Given the description of an element on the screen output the (x, y) to click on. 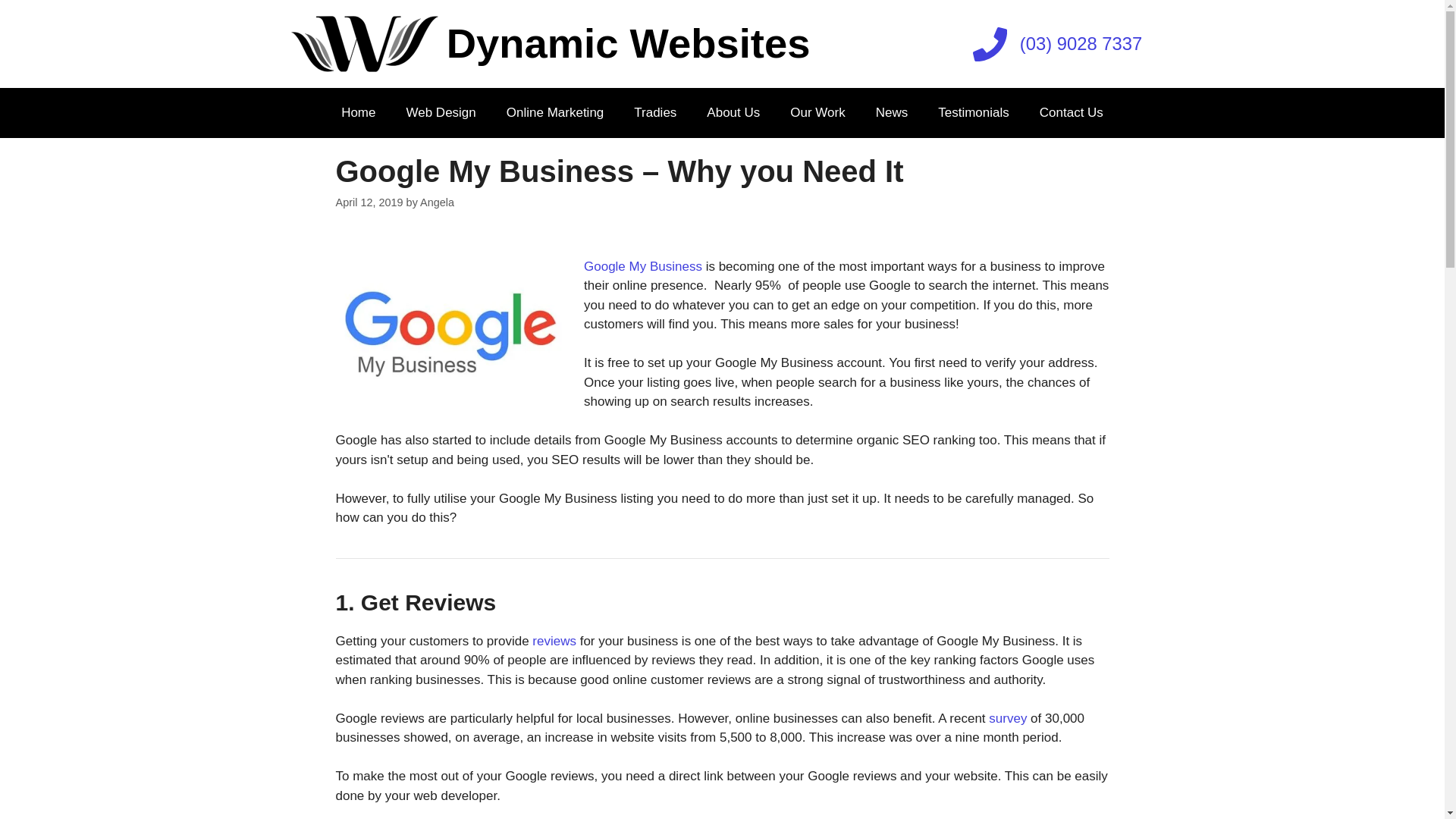
News Element type: text (891, 112)
Home Element type: text (358, 112)
Dynamic Websites Element type: text (628, 43)
Tradies Element type: text (654, 112)
(03) 9028 7337 Element type: text (1057, 44)
survey Element type: text (1007, 718)
Our Work Element type: text (817, 112)
Testimonials Element type: text (973, 112)
Angela Element type: text (437, 202)
Online Marketing Element type: text (555, 112)
reviews Element type: text (554, 640)
Google My Business Element type: text (642, 266)
Contact Us Element type: text (1071, 112)
Web Design Element type: text (440, 112)
About Us Element type: text (733, 112)
